Given the description of an element on the screen output the (x, y) to click on. 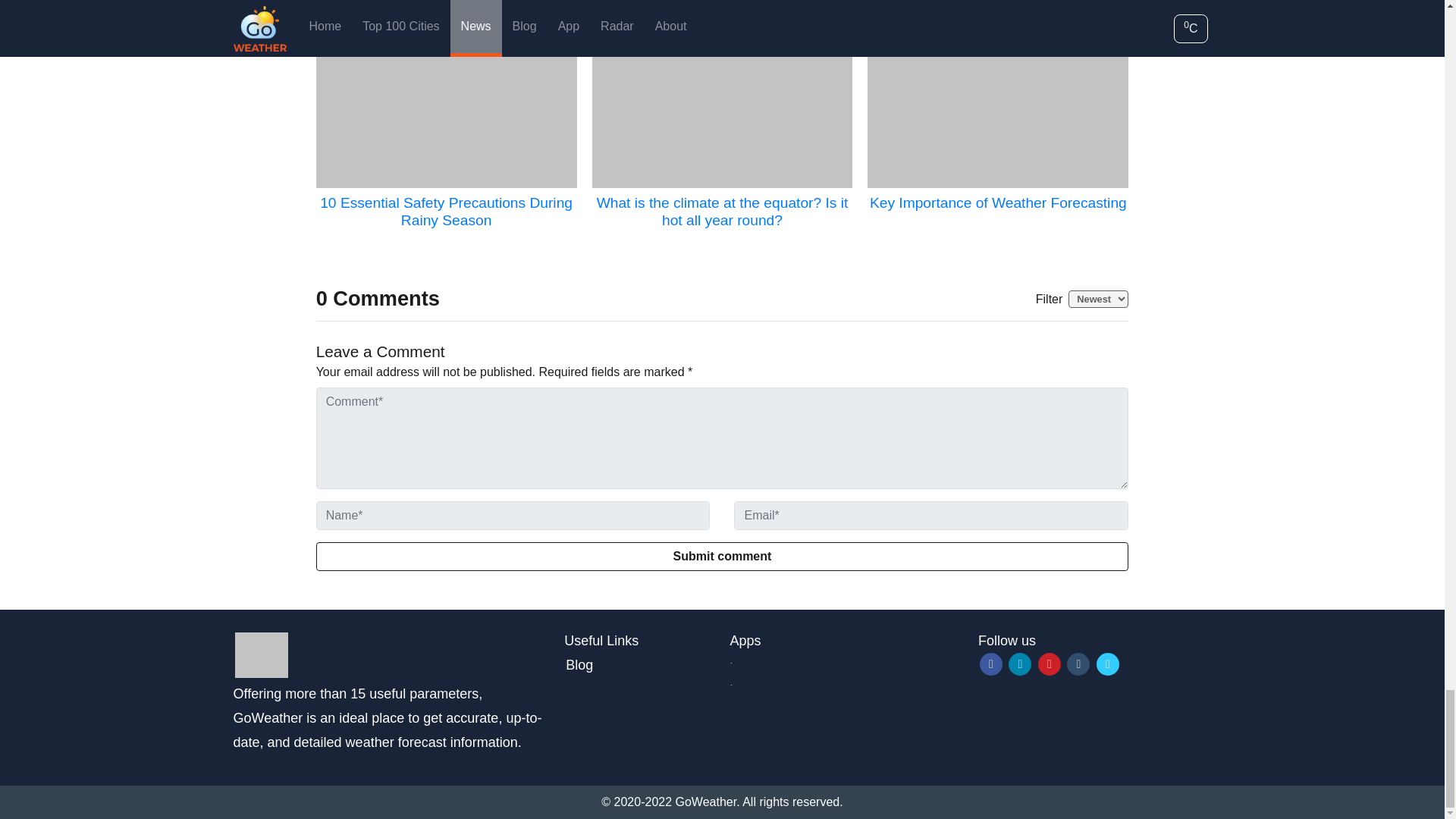
10 Essential Safety Precautions During Rainy Season (446, 211)
Key Importance of Weather Forecasting (997, 113)
10 Essential Safety Precautions During Rainy Season (445, 113)
Blog (579, 664)
Key Importance of Weather Forecasting (997, 202)
